Given the description of an element on the screen output the (x, y) to click on. 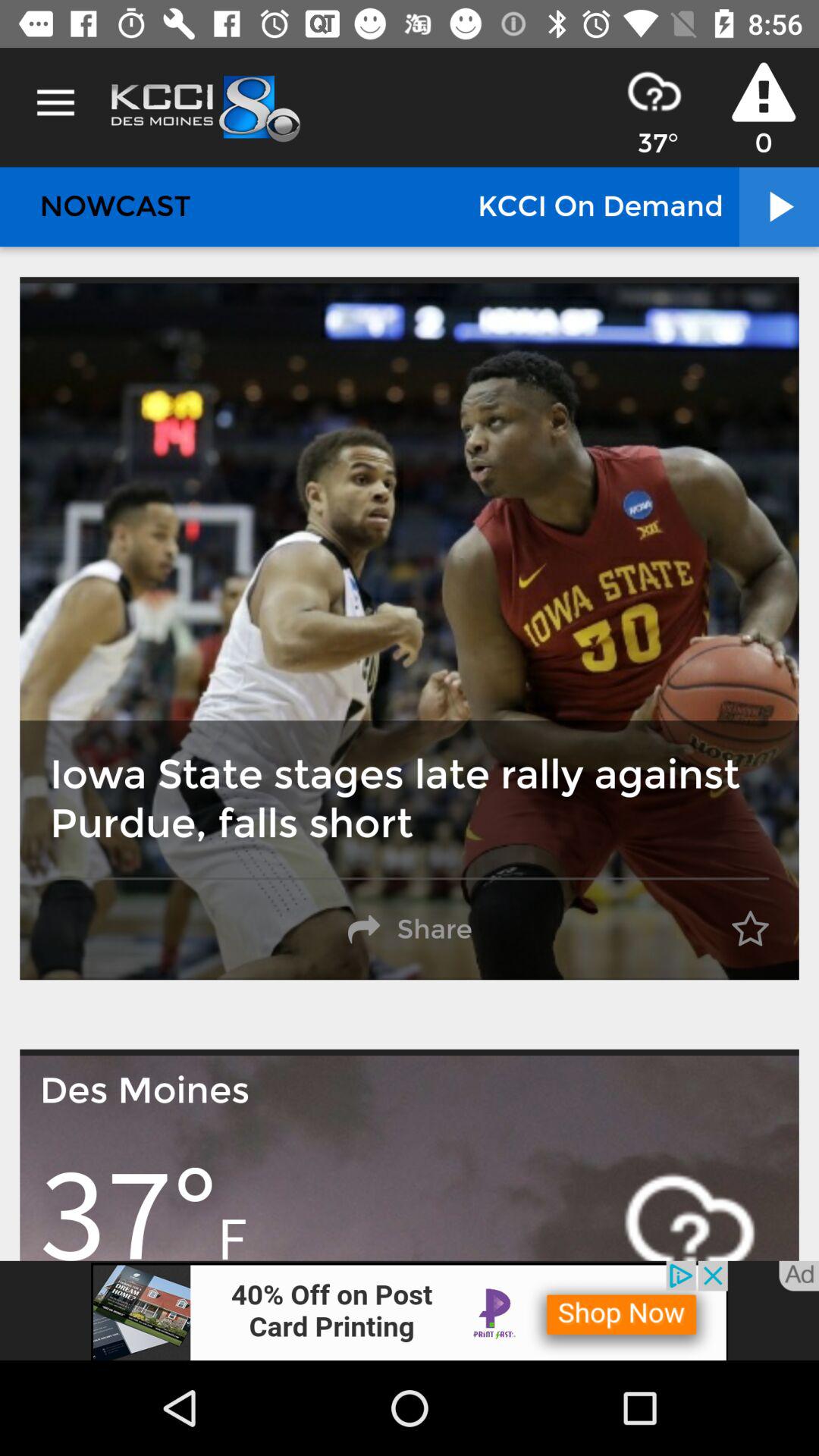
view advertisement (409, 1310)
